Given the description of an element on the screen output the (x, y) to click on. 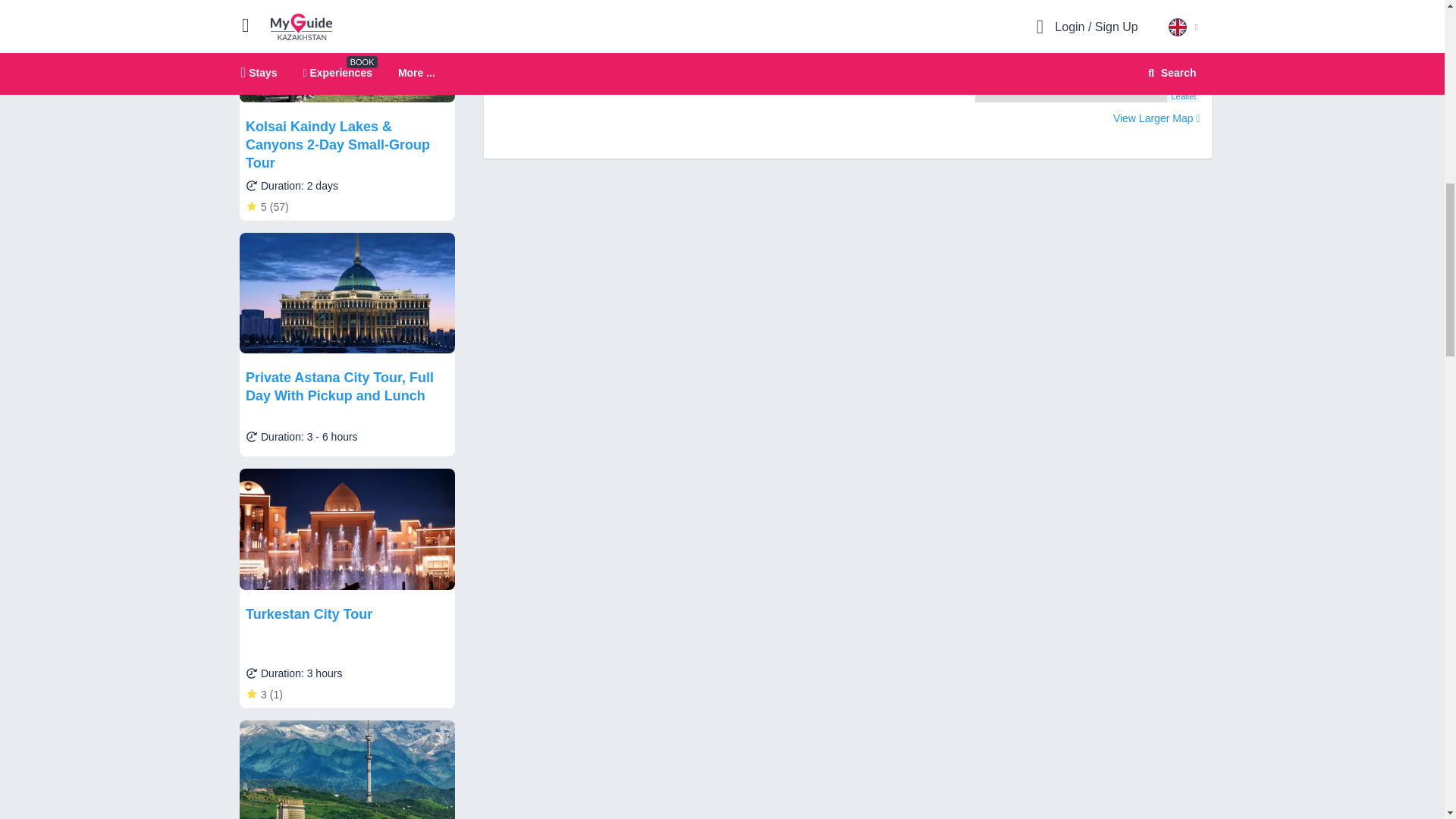
Zoom out (995, 2)
A JS library for interactive maps (1182, 95)
Larger Map for Company: CITY HOTEL TIEN SHAN Kazakhstan (1156, 118)
